Given the description of an element on the screen output the (x, y) to click on. 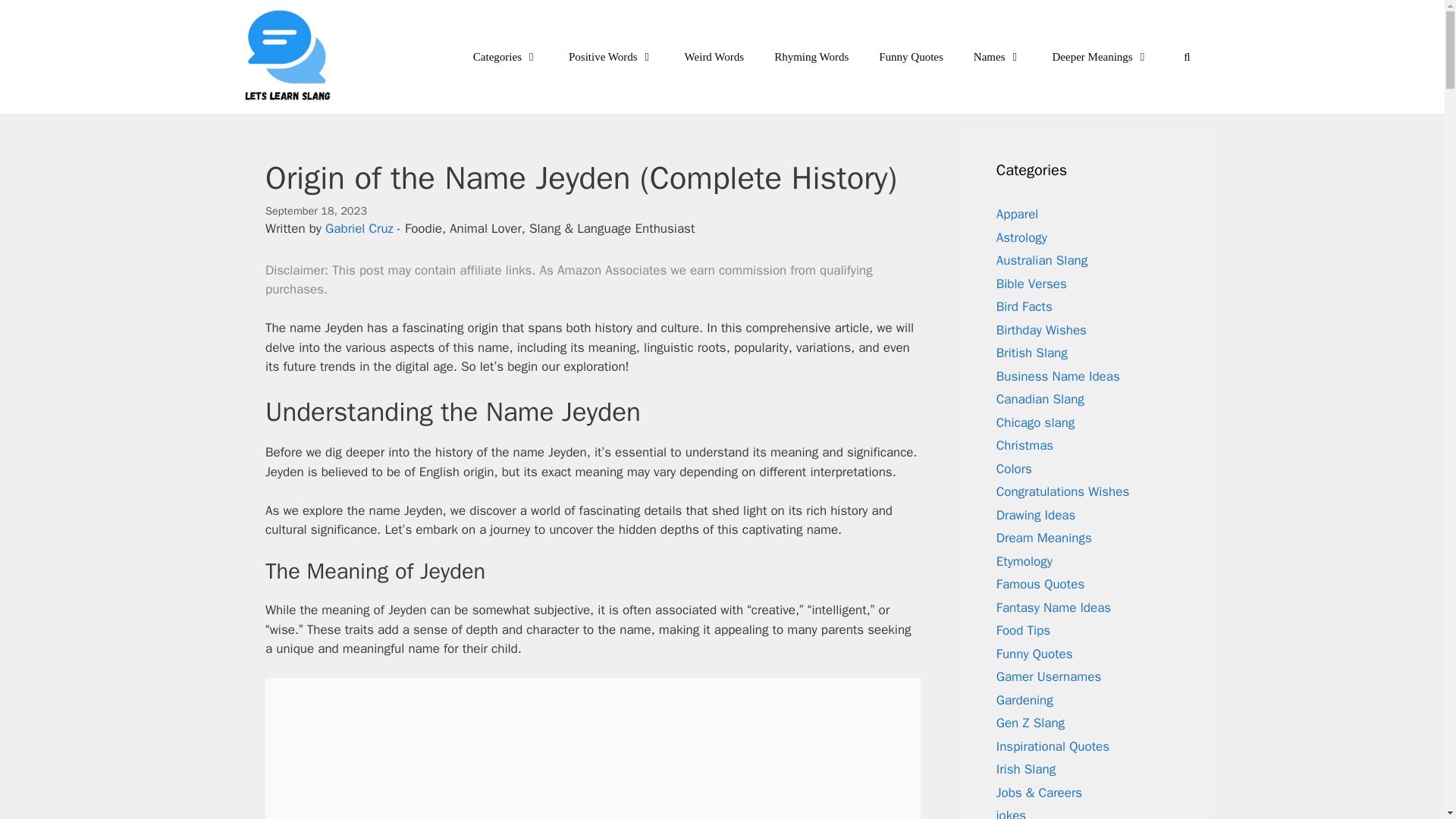
Positive Words (611, 56)
Funny Quotes (910, 56)
Categories (505, 56)
Lets Learn Slang (288, 56)
Names (997, 56)
Lets Learn Slang (292, 56)
Rhyming Words (810, 56)
Weird Words (714, 56)
